Given the description of an element on the screen output the (x, y) to click on. 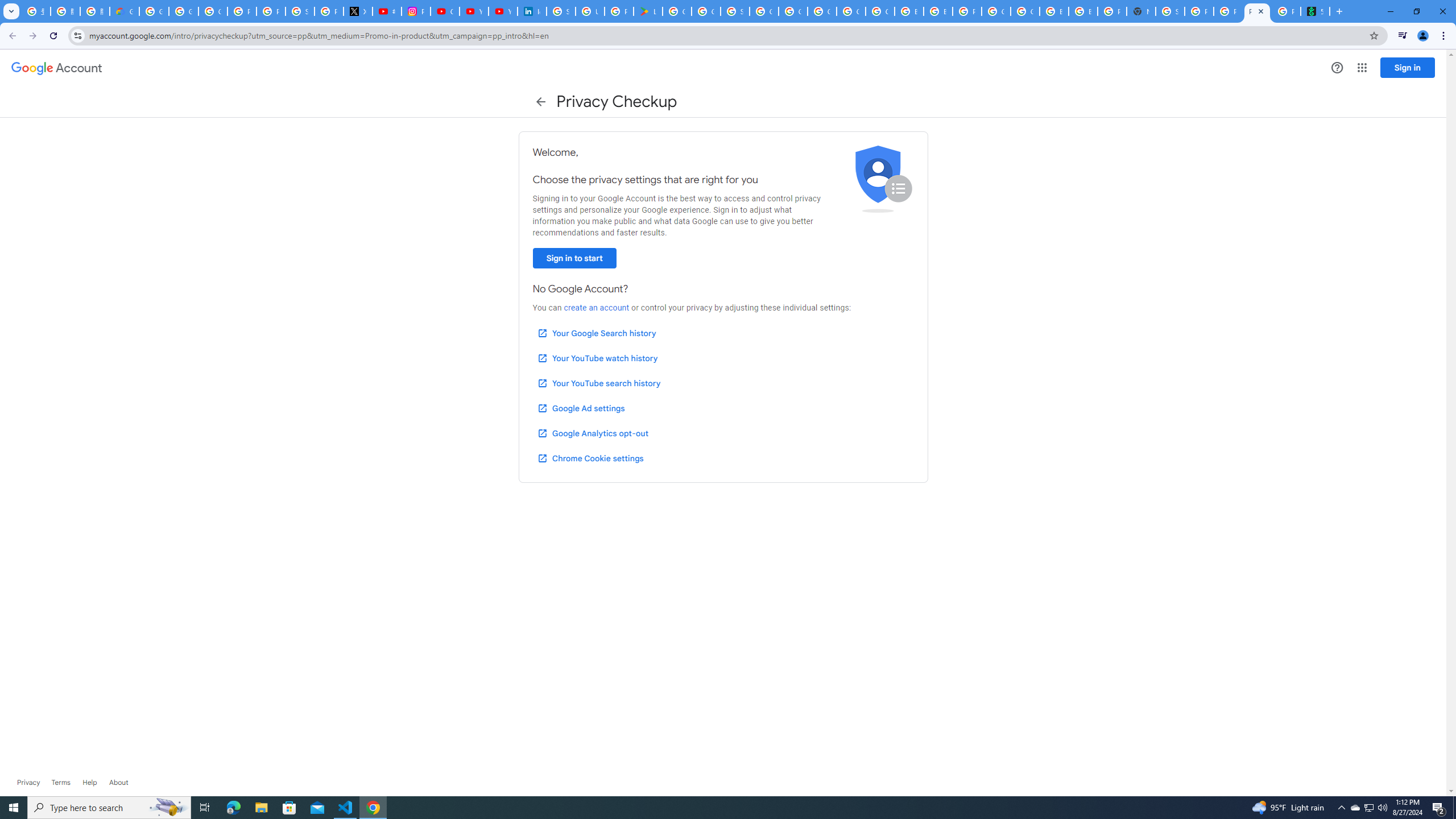
Sign in - Google Accounts (1169, 11)
Privacy (28, 782)
Last Shelter: Survival - Apps on Google Play (648, 11)
Learn more about Google Account (118, 782)
Google Cloud Platform (996, 11)
Browse Chrome as a guest - Computer - Google Chrome Help (938, 11)
Google Analytics opt-out (592, 433)
create an account (595, 307)
